Given the description of an element on the screen output the (x, y) to click on. 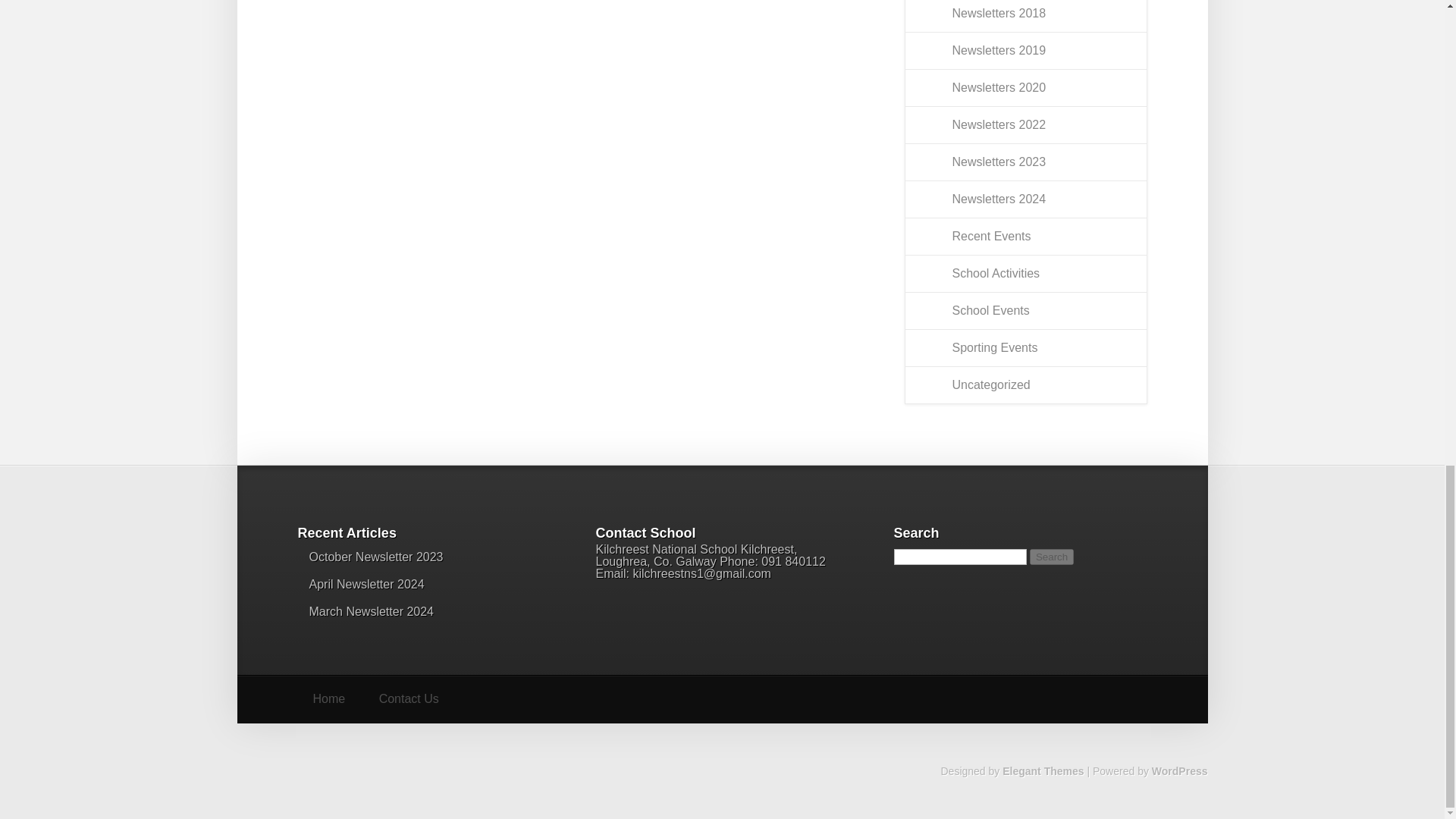
Search (1051, 556)
Premium WordPress Themes (1043, 770)
